Given the description of an element on the screen output the (x, y) to click on. 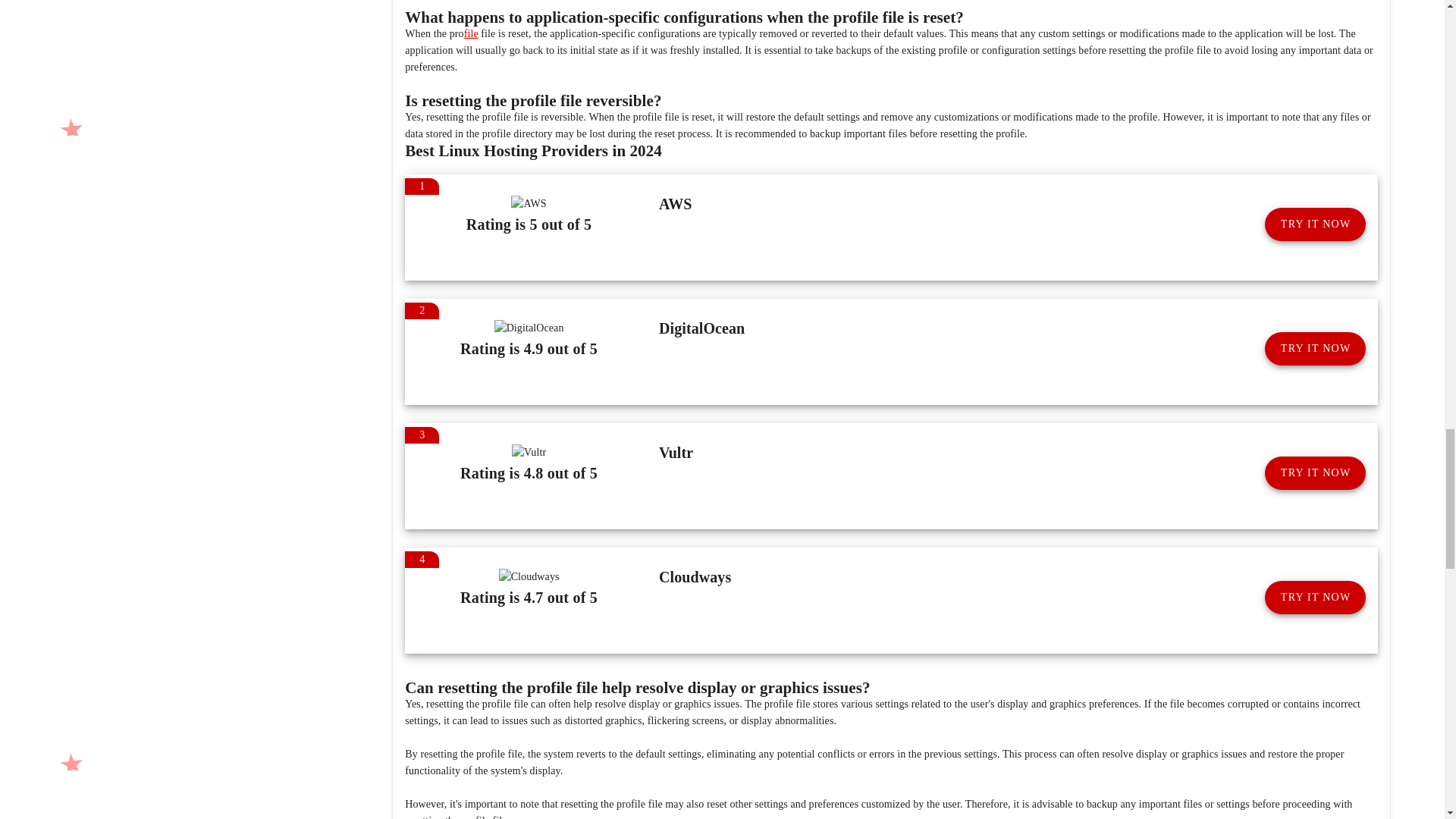
TRY IT NOW (1315, 472)
TRY IT NOW (1315, 224)
TRY IT NOW (1315, 348)
file (471, 33)
